Given the description of an element on the screen output the (x, y) to click on. 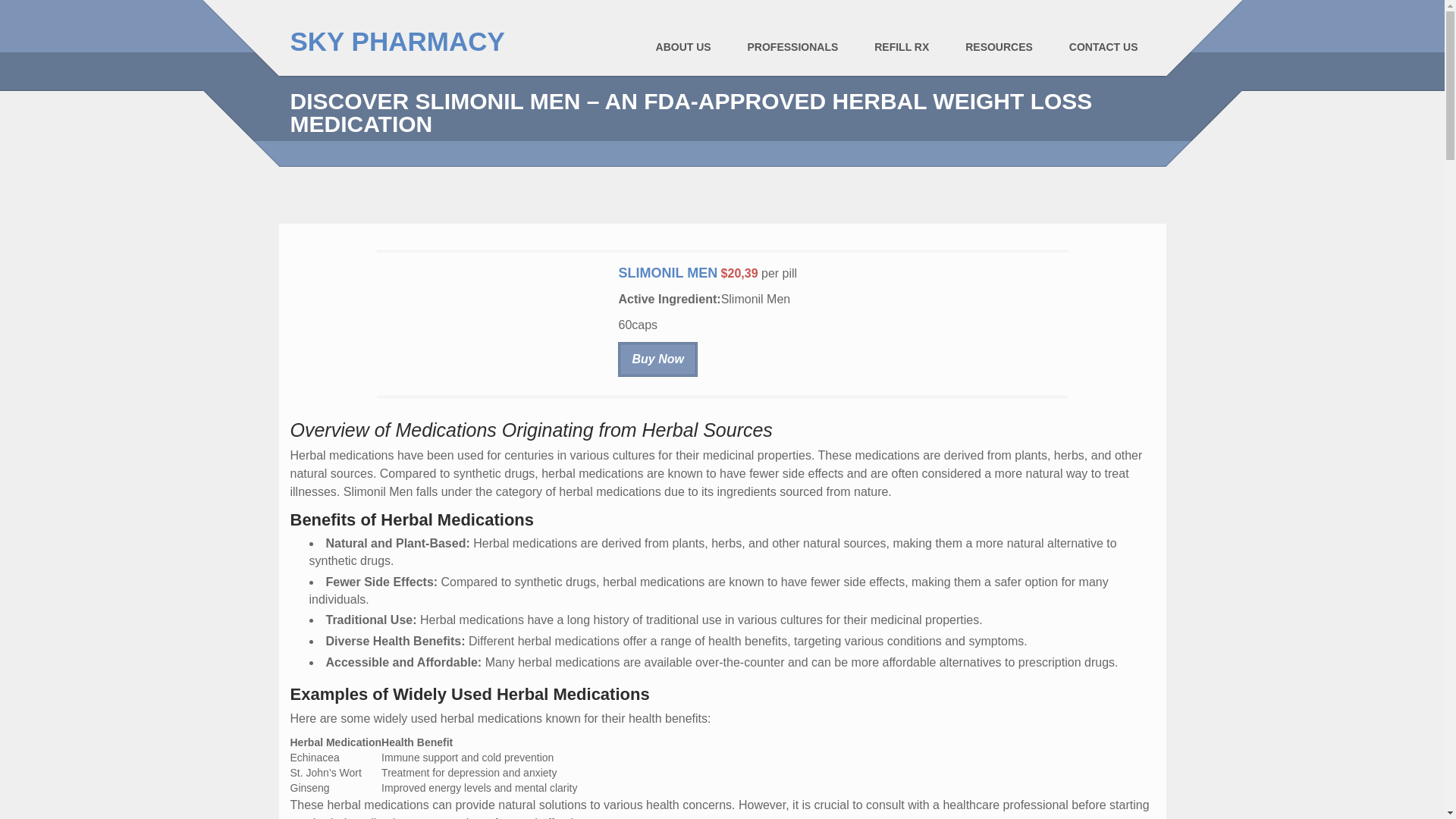
RESOURCES (999, 47)
REFILL RX (900, 47)
ABOUT US (683, 47)
PROFESSIONALS (792, 47)
CONTACT US (1103, 47)
Sky Pharmacy: Buy Generic Meds Online (396, 41)
Buy Now (657, 359)
SKY PHARMACY (396, 41)
